Given the description of an element on the screen output the (x, y) to click on. 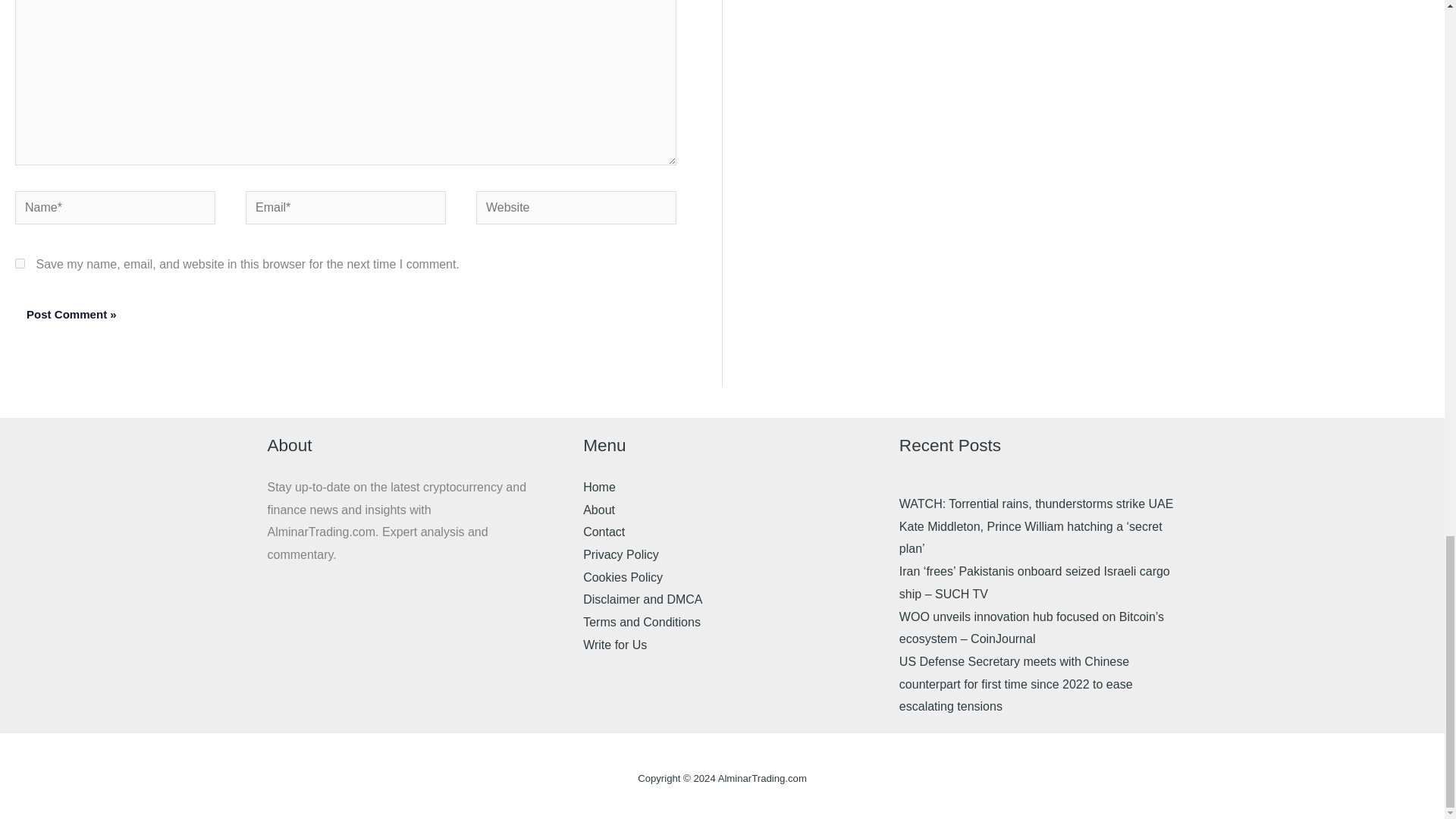
yes (19, 263)
